Given the description of an element on the screen output the (x, y) to click on. 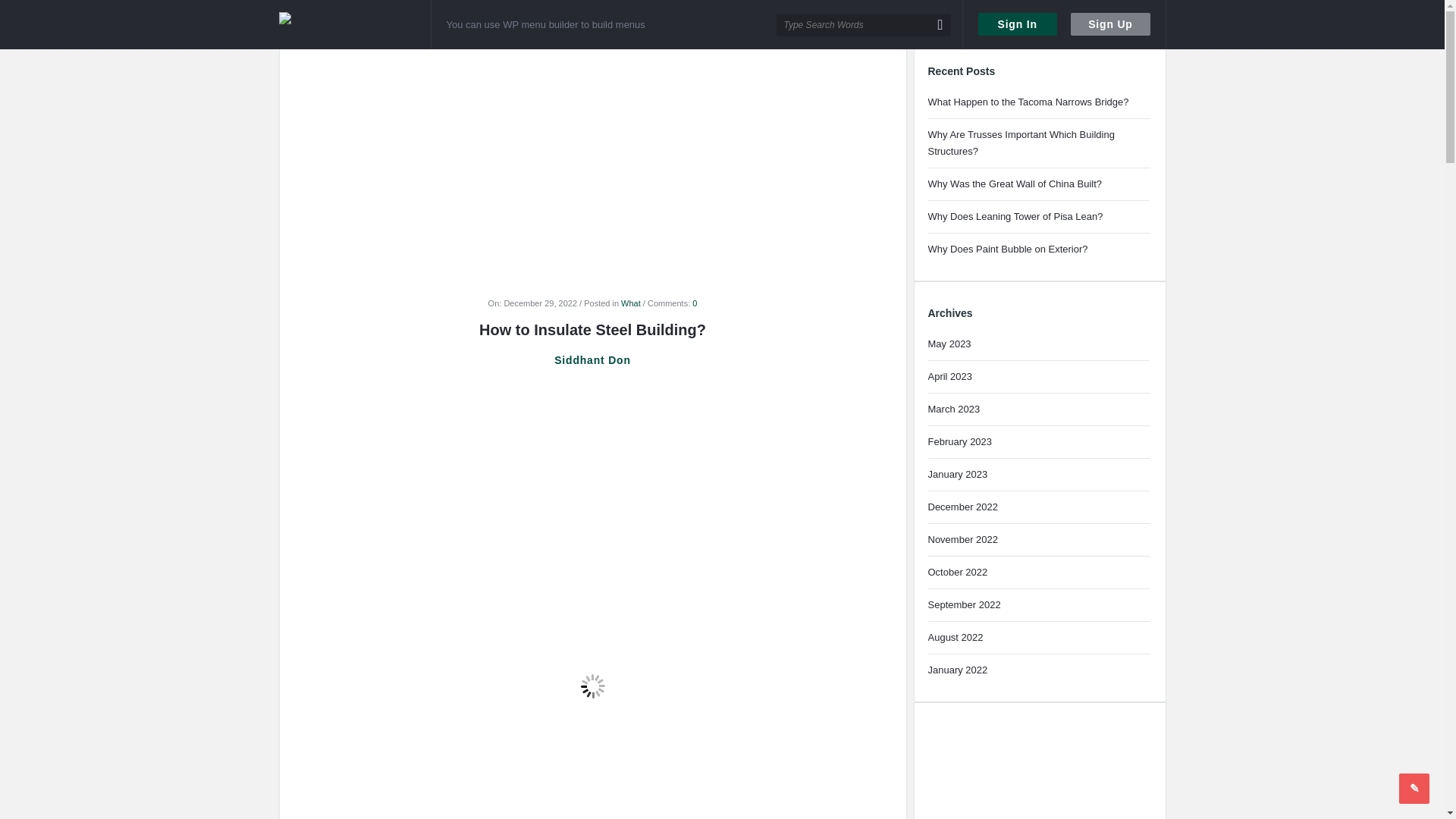
Civiljungle (343, 25)
Sign Up (1110, 24)
Siddhant Don (592, 360)
Civiljungle (354, 24)
Sign In (1017, 24)
What (630, 302)
